Given the description of an element on the screen output the (x, y) to click on. 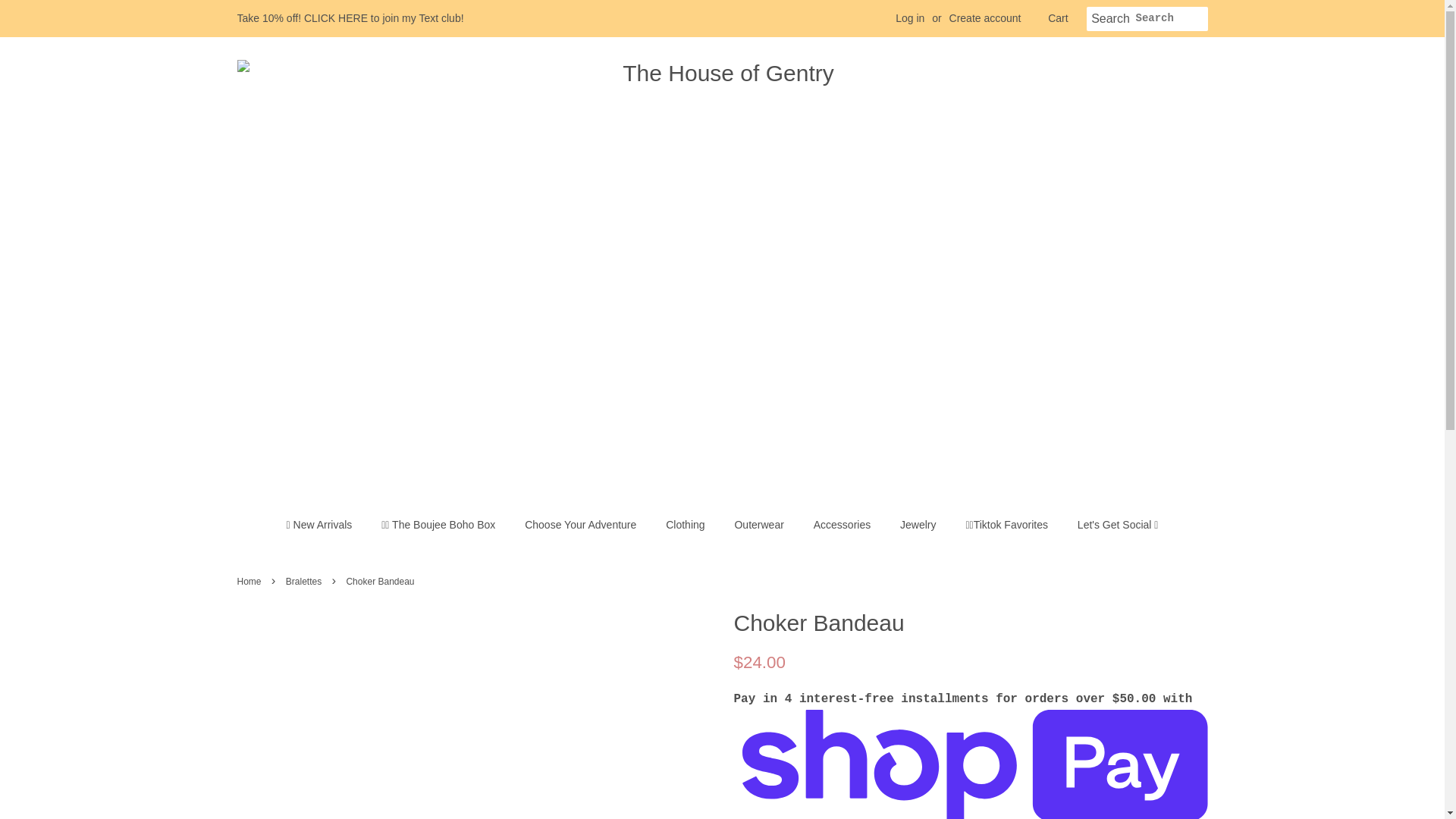
Search (1110, 18)
Back to the frontpage (249, 581)
Create account (985, 18)
Log in (909, 18)
Cart (1057, 18)
